Given the description of an element on the screen output the (x, y) to click on. 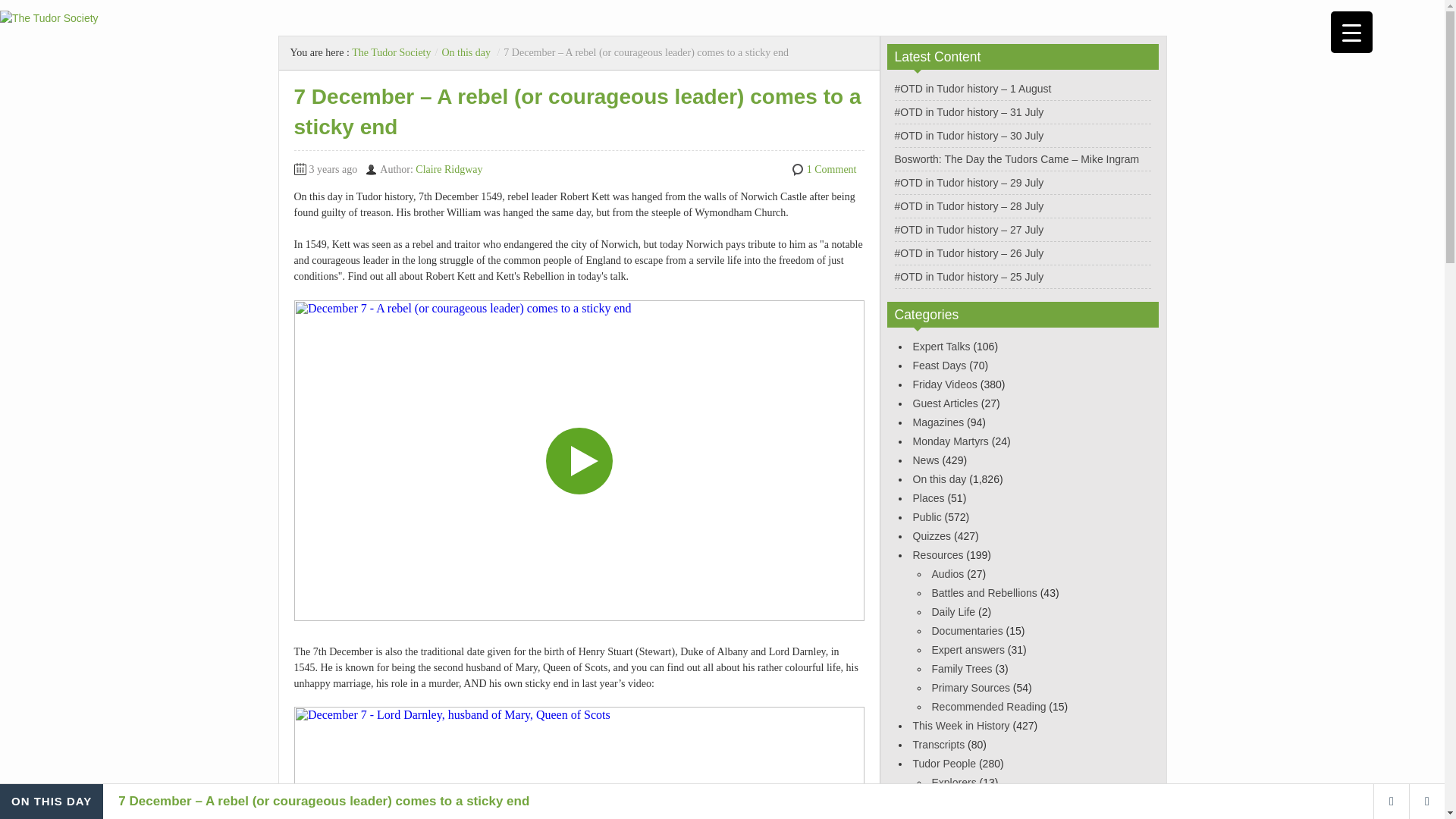
On this day (465, 52)
Expert Talks (941, 346)
The Tudor Society (391, 52)
December 7 - Lord Darnley, husband of Mary, Queen of Scots (579, 762)
Claire Ridgway (447, 169)
Monday Martyrs (950, 440)
News (925, 460)
Guest Articles (945, 403)
Friday Videos (944, 384)
Feast Days (939, 365)
